Given the description of an element on the screen output the (x, y) to click on. 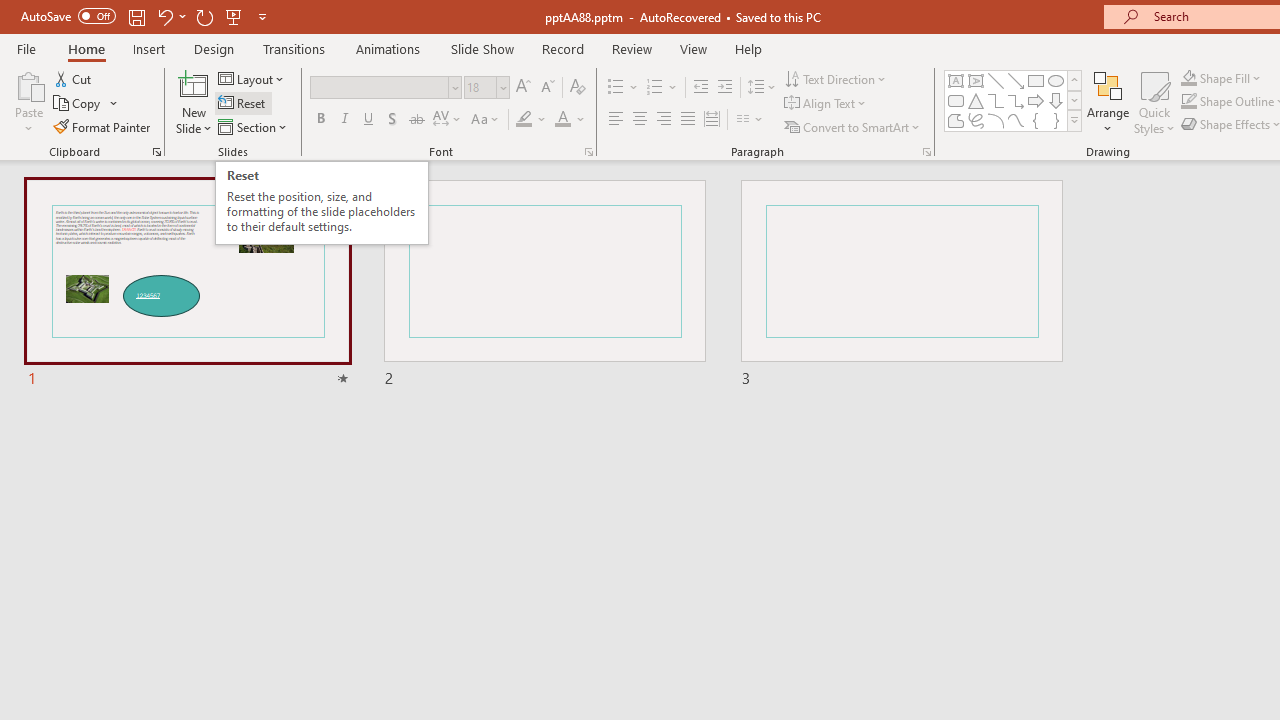
Shape Outline Teal, Accent 1 (1188, 101)
Shape Fill Aqua, Accent 2 (1188, 78)
